Given the description of an element on the screen output the (x, y) to click on. 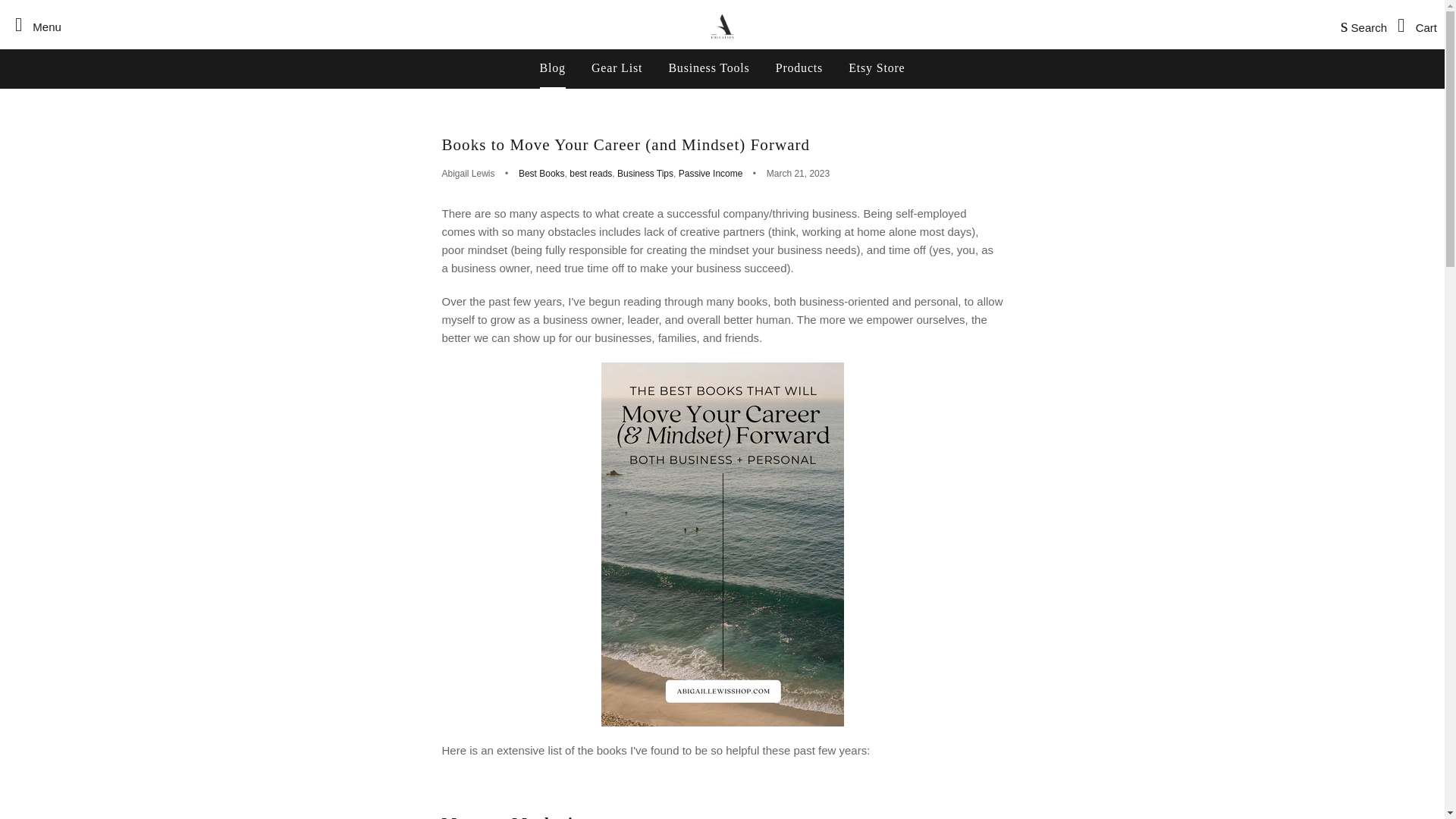
Etsy Store (876, 67)
Gear List (616, 67)
Passive Income (710, 173)
Cart (1413, 23)
Products (799, 67)
Best Books (541, 173)
Blog (552, 67)
Search (1360, 23)
best reads (590, 173)
Menu (34, 24)
